Given the description of an element on the screen output the (x, y) to click on. 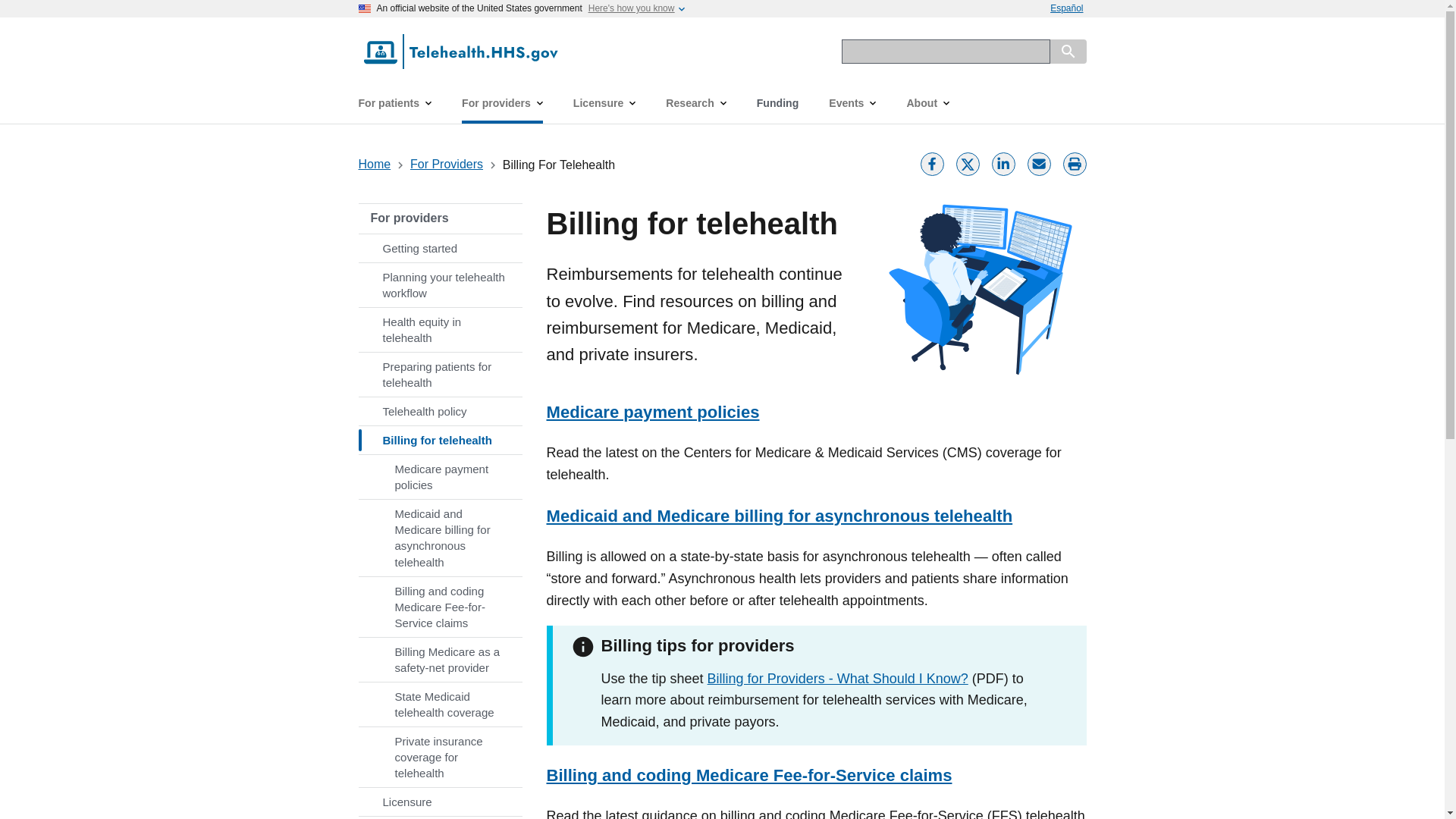
Getting started (439, 248)
Medicare payment policies (439, 476)
Legal considerations (439, 817)
Facebook (930, 162)
Events (852, 102)
Search (1067, 51)
Billing and coding Medicare Fee-for-Service claims (439, 607)
Home (374, 164)
Planning your telehealth workflow (439, 284)
For Providers (446, 164)
Funding (777, 102)
Medicaid and Medicare billing for asynchronous telehealth (439, 537)
Here's how you know (631, 8)
Linkedin (1002, 162)
Private insurance coverage for telehealth (439, 757)
